Given the description of an element on the screen output the (x, y) to click on. 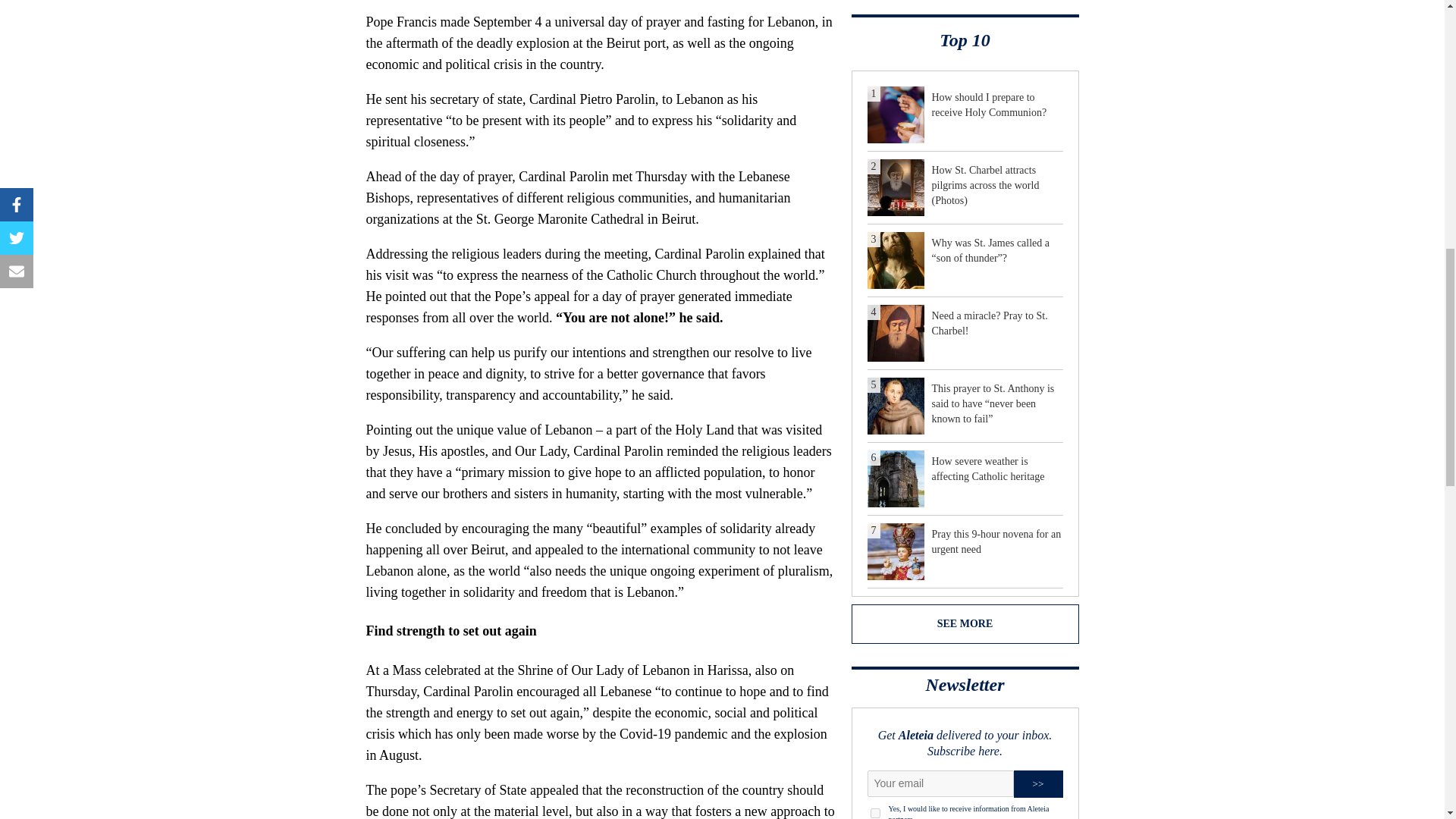
1 (875, 813)
